Given the description of an element on the screen output the (x, y) to click on. 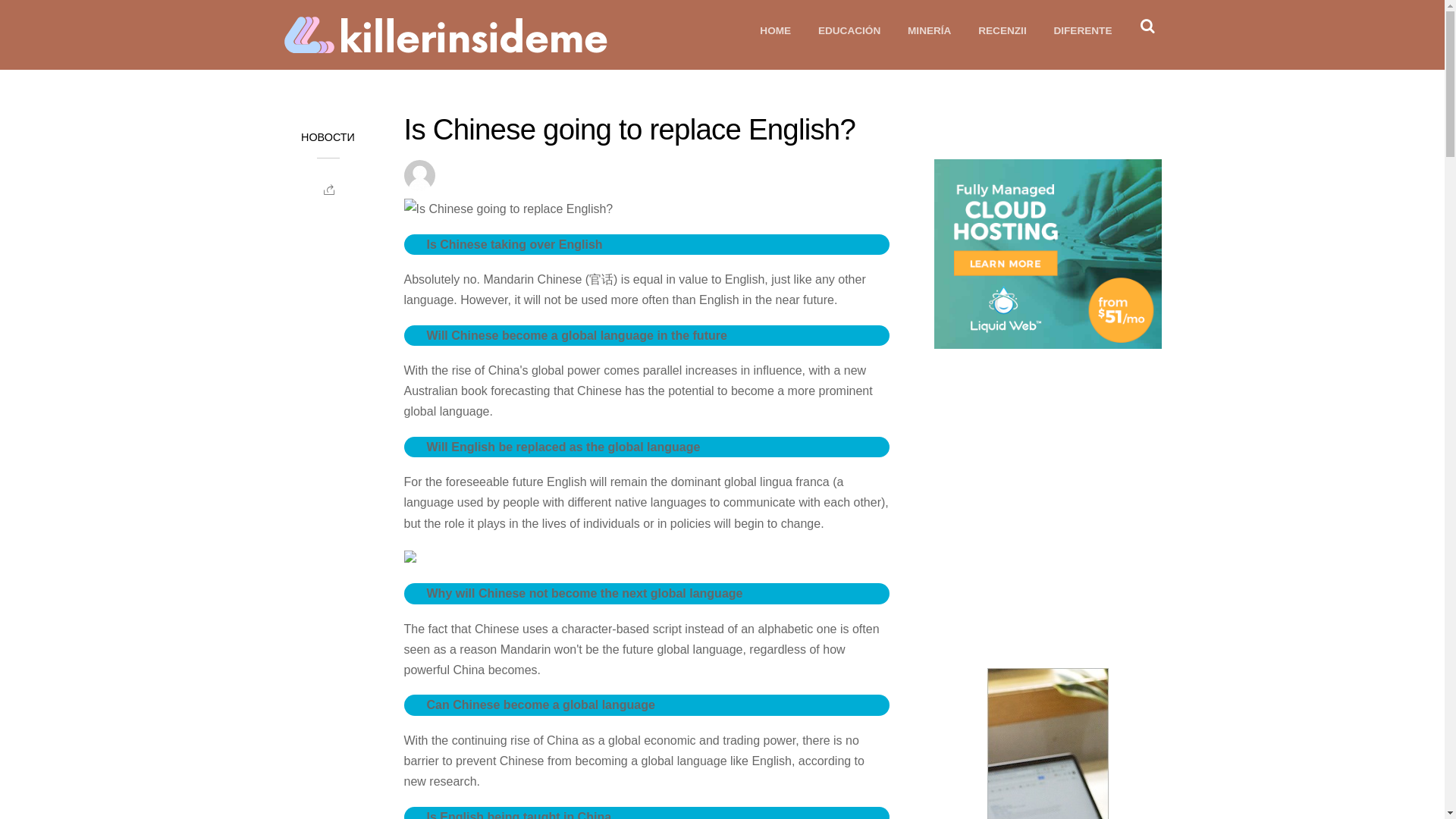
RECENZII (1002, 30)
killerinsideme.com (471, 34)
Search (1144, 25)
DIFERENTE (1082, 30)
HOME (775, 30)
killerinsideme.com (471, 44)
Is Chinese going to replace English? (630, 129)
